Given the description of an element on the screen output the (x, y) to click on. 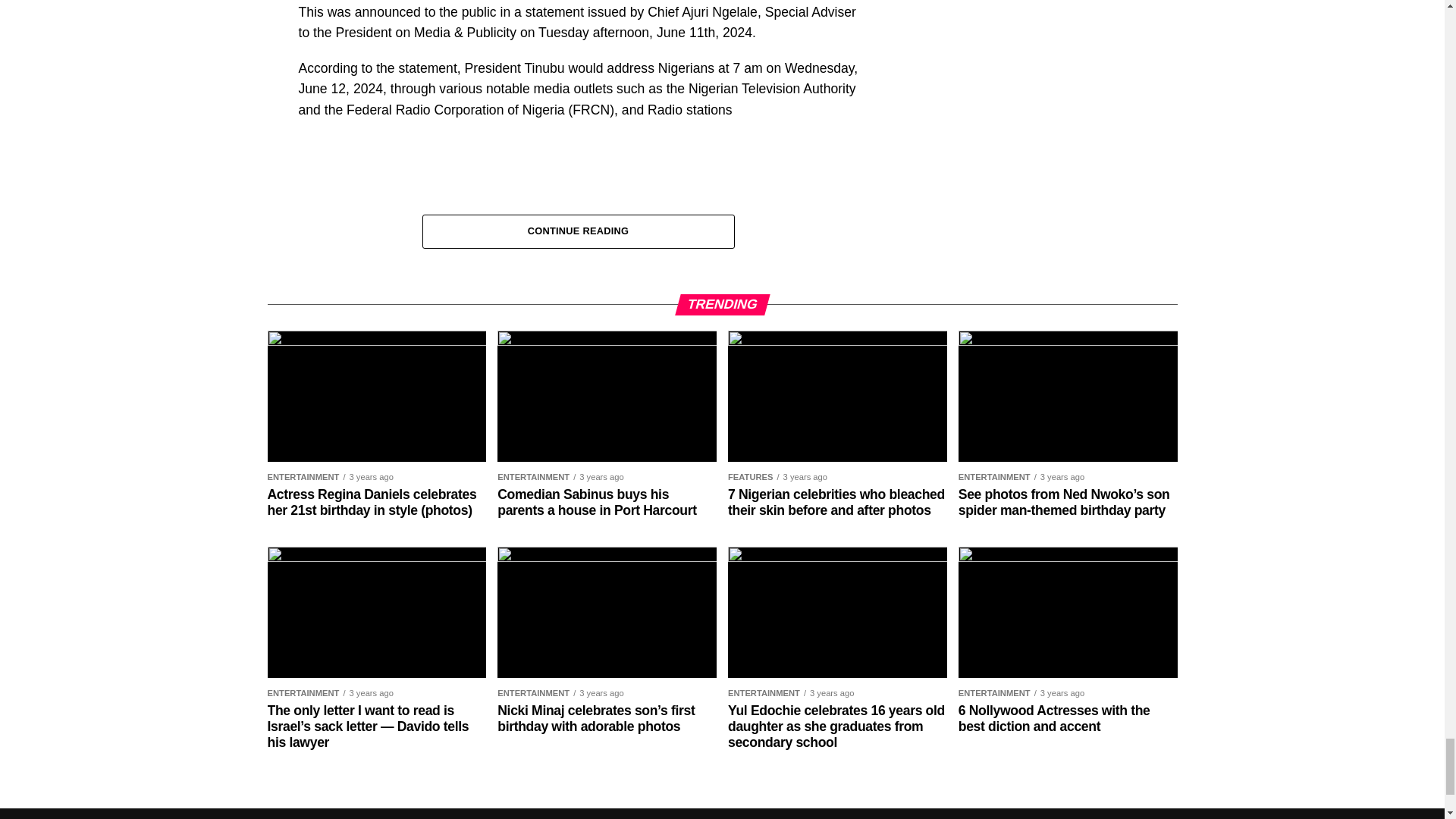
CONTINUE READING (577, 229)
